Given the description of an element on the screen output the (x, y) to click on. 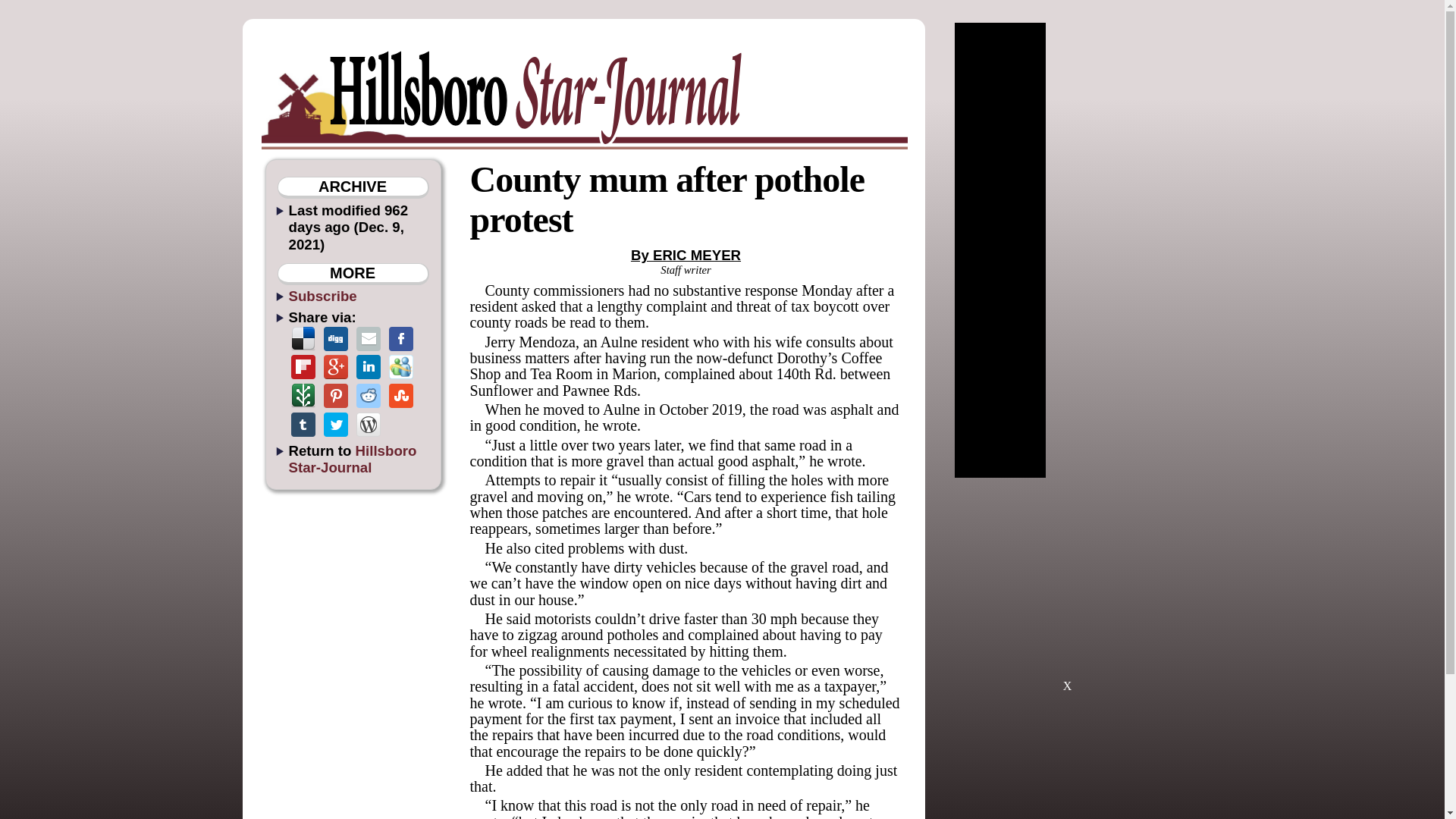
Hillsboro Star-Journal (352, 459)
Subscribe (322, 295)
Advertisement (1067, 591)
